Given the description of an element on the screen output the (x, y) to click on. 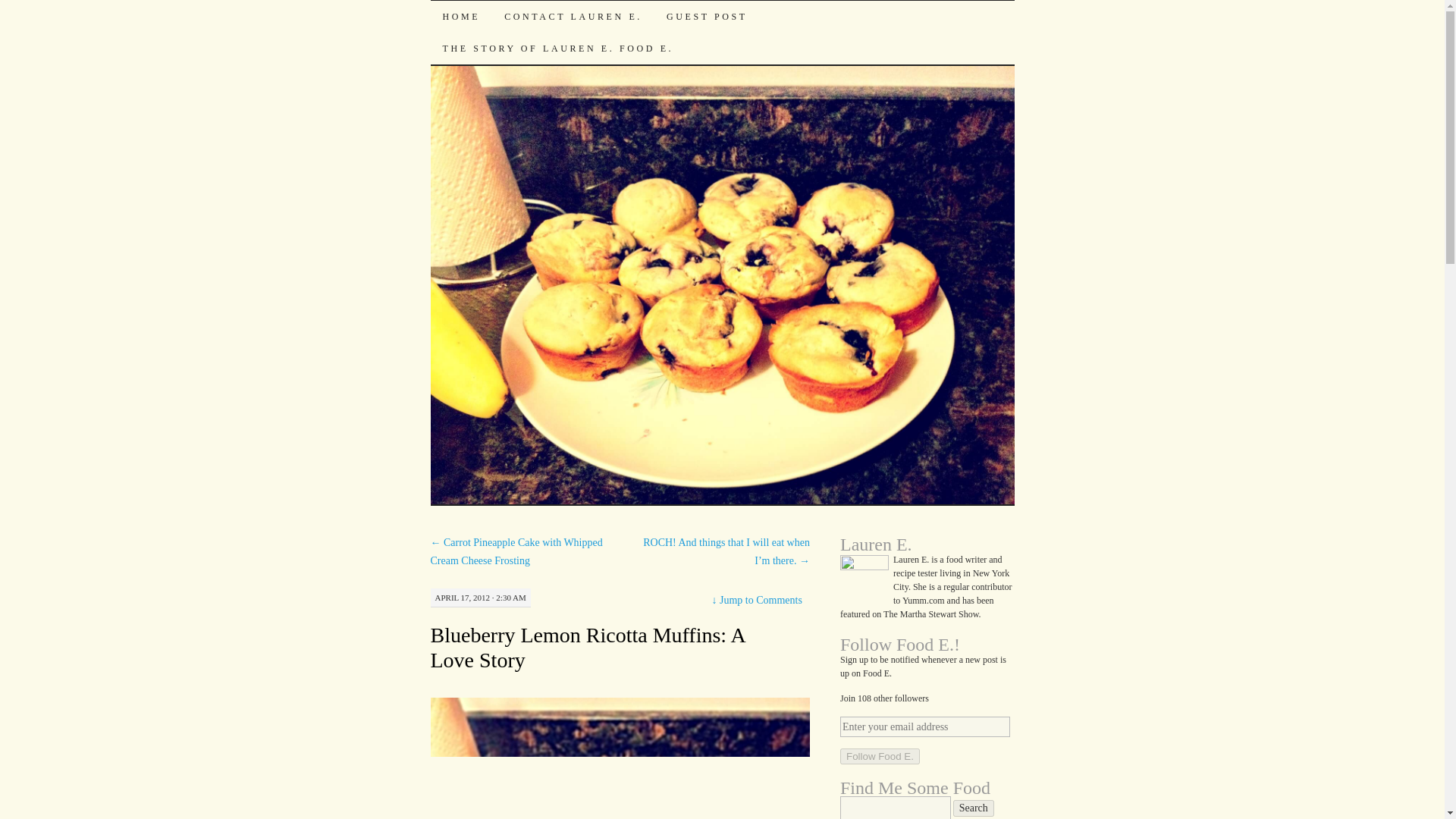
THE STORY OF LAUREN E. FOOD E. (557, 48)
Food E. (480, 26)
Search (973, 808)
Food E. (480, 26)
HOME (461, 16)
muffins (619, 758)
GUEST POST (706, 16)
CONTACT LAUREN E. (572, 16)
Blueberry Lemon Ricotta Muffins: A Love Story (587, 647)
